Given the description of an element on the screen output the (x, y) to click on. 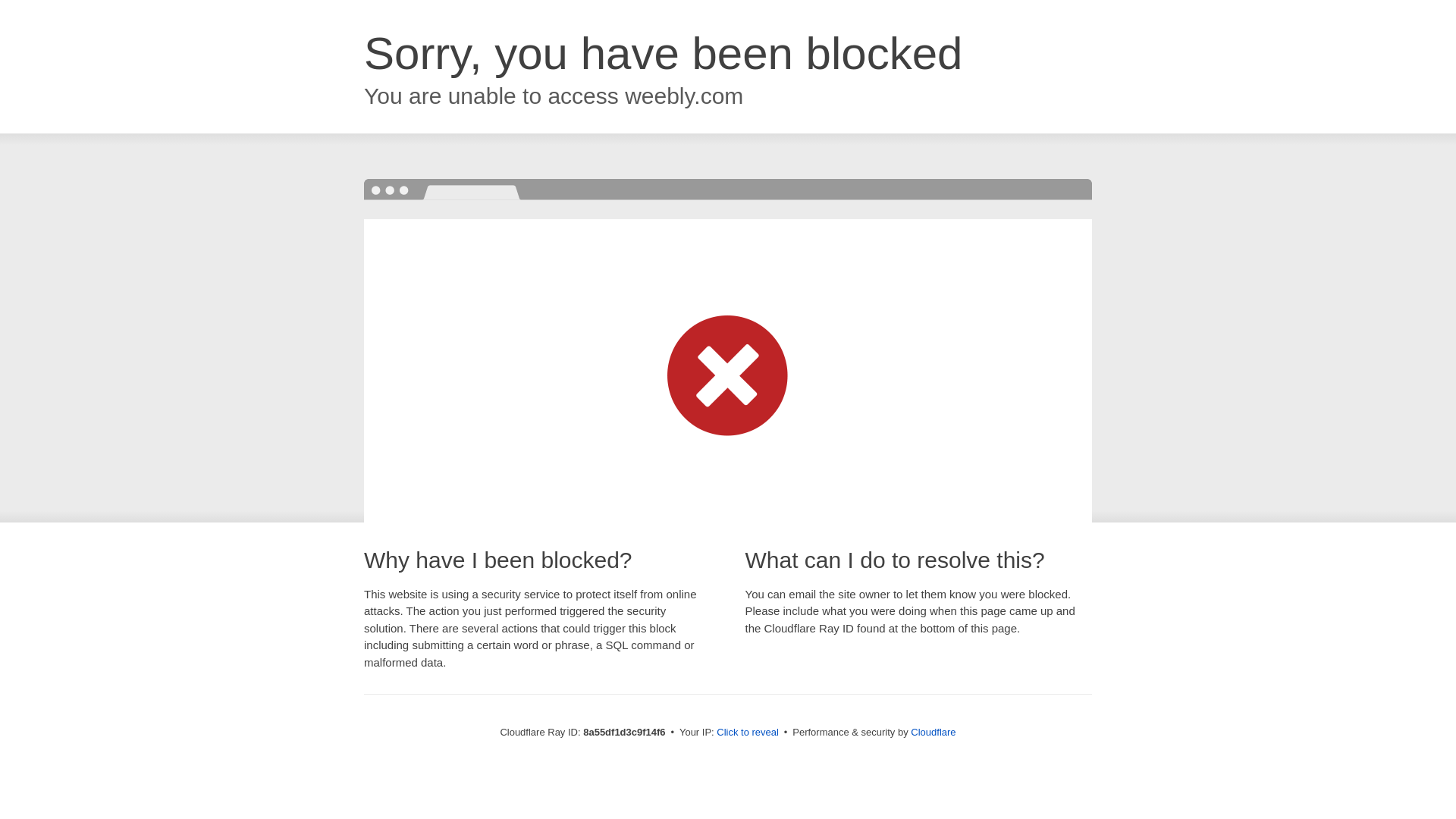
Click to reveal (747, 732)
Cloudflare (933, 731)
